Given the description of an element on the screen output the (x, y) to click on. 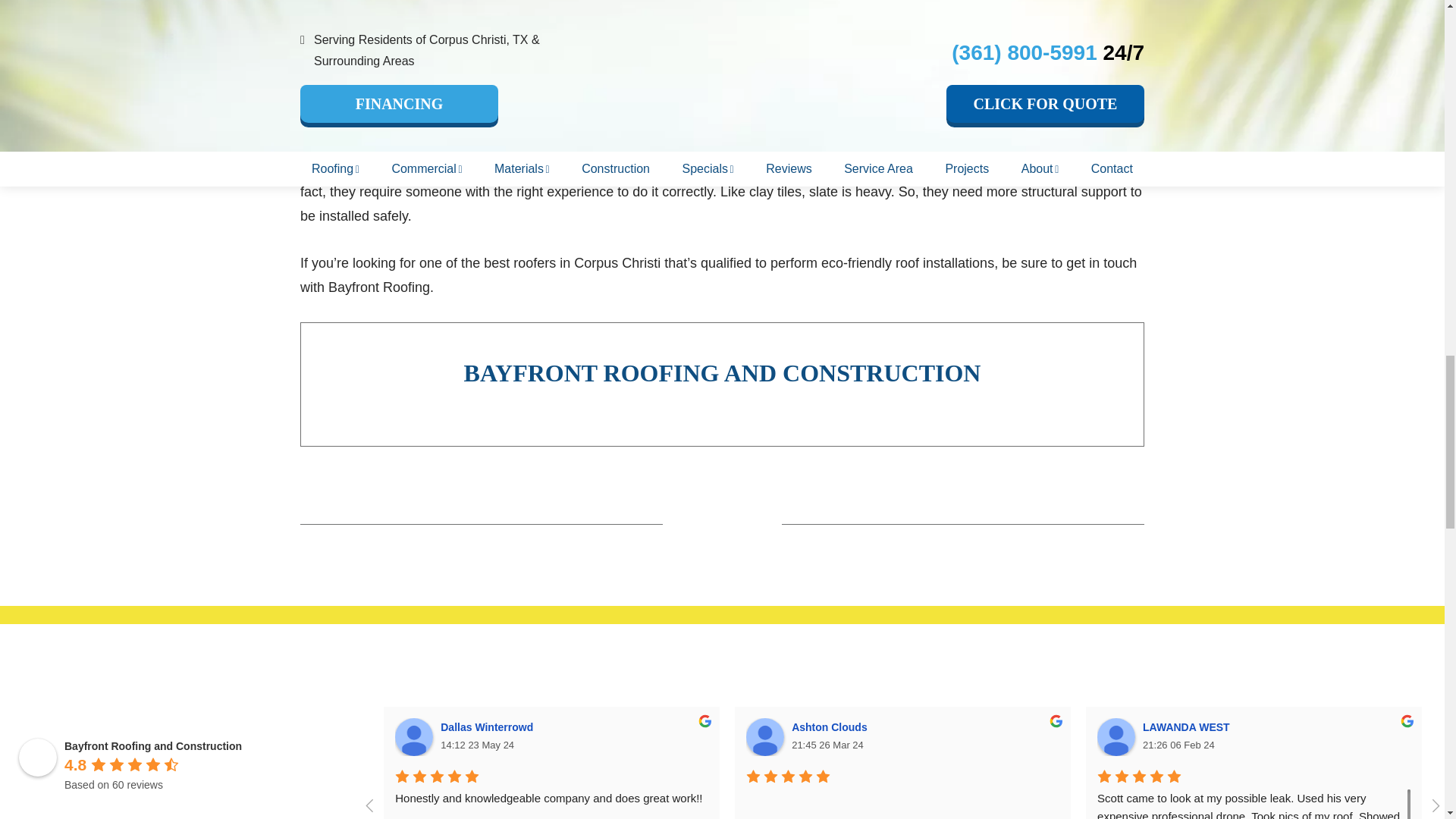
Dallas Winterrowd (413, 736)
Ashton Clouds (764, 736)
Bayfront Roofing and Construction (37, 757)
LAWANDA WEST (1116, 736)
powered by Google (118, 803)
